Given the description of an element on the screen output the (x, y) to click on. 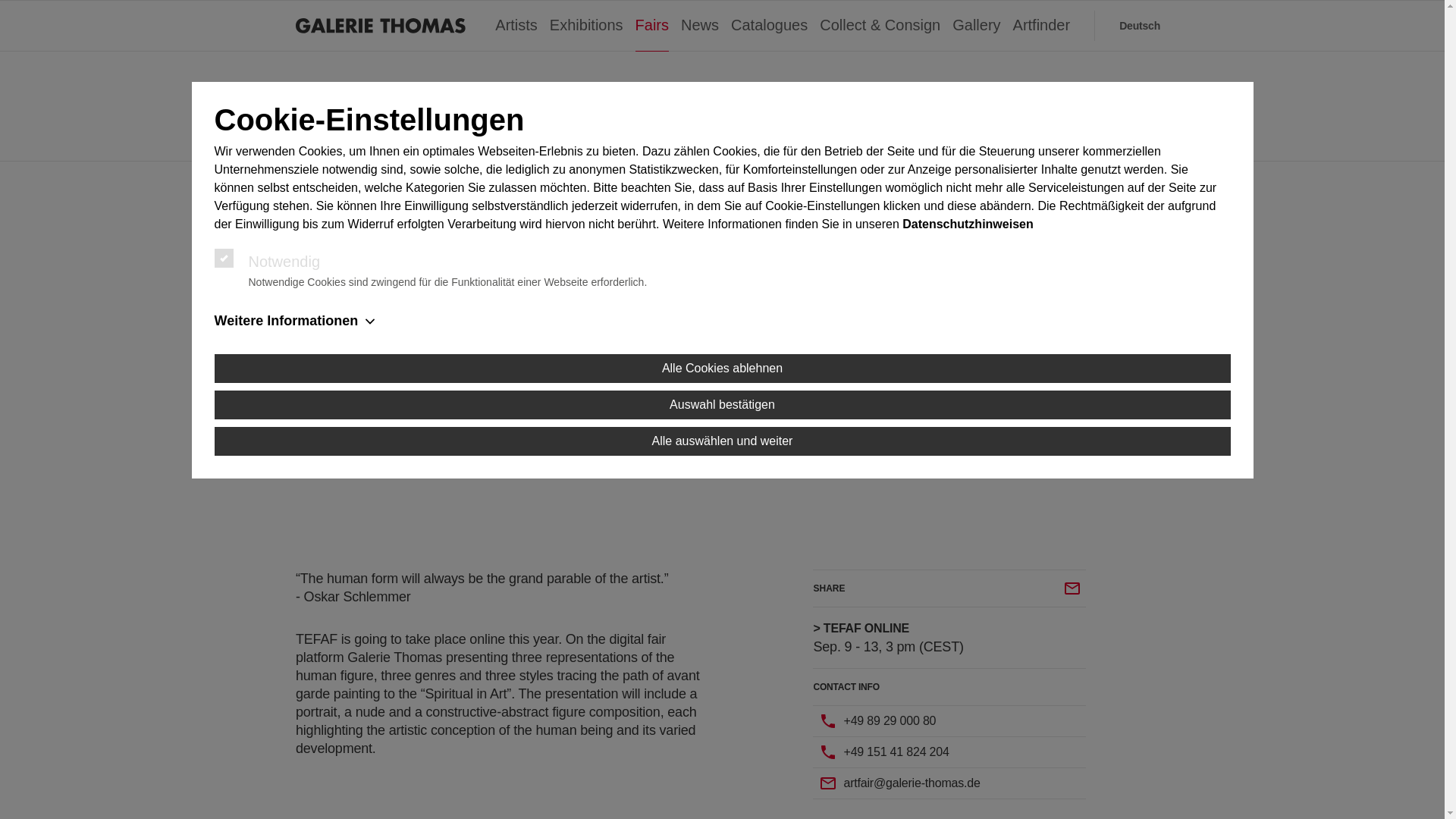
Alle Cookies ablehnen (722, 368)
Gallery (976, 25)
Deutsch (1139, 26)
TEFAF Online (726, 338)
Artfinder (1041, 25)
Exhibitions (586, 25)
Catalogues (769, 25)
Weitere Informationen (722, 321)
Datenschutzhinweisen (967, 223)
Galerie Thomas (380, 25)
